Given the description of an element on the screen output the (x, y) to click on. 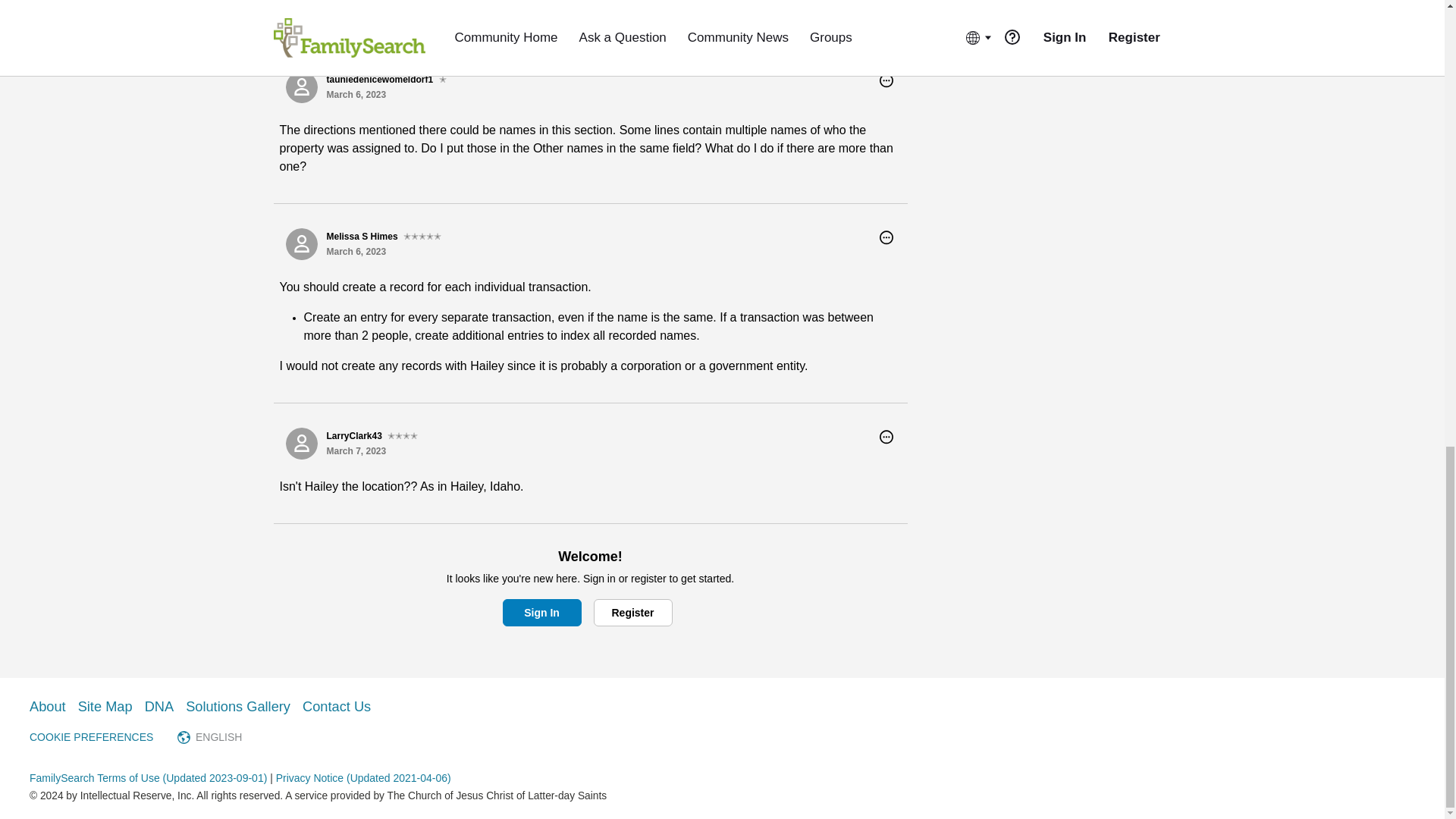
Melissa S Himes (301, 244)
Level 4 (402, 436)
March 6, 2023 4:43AM (355, 251)
Level 1 (442, 79)
tauniedenicewomeldorf1 (301, 87)
March 7, 2023 4:07AM (355, 450)
March 6, 2023 3:35AM (355, 94)
Level 5 (422, 236)
LarryClark43 (301, 443)
